Given the description of an element on the screen output the (x, y) to click on. 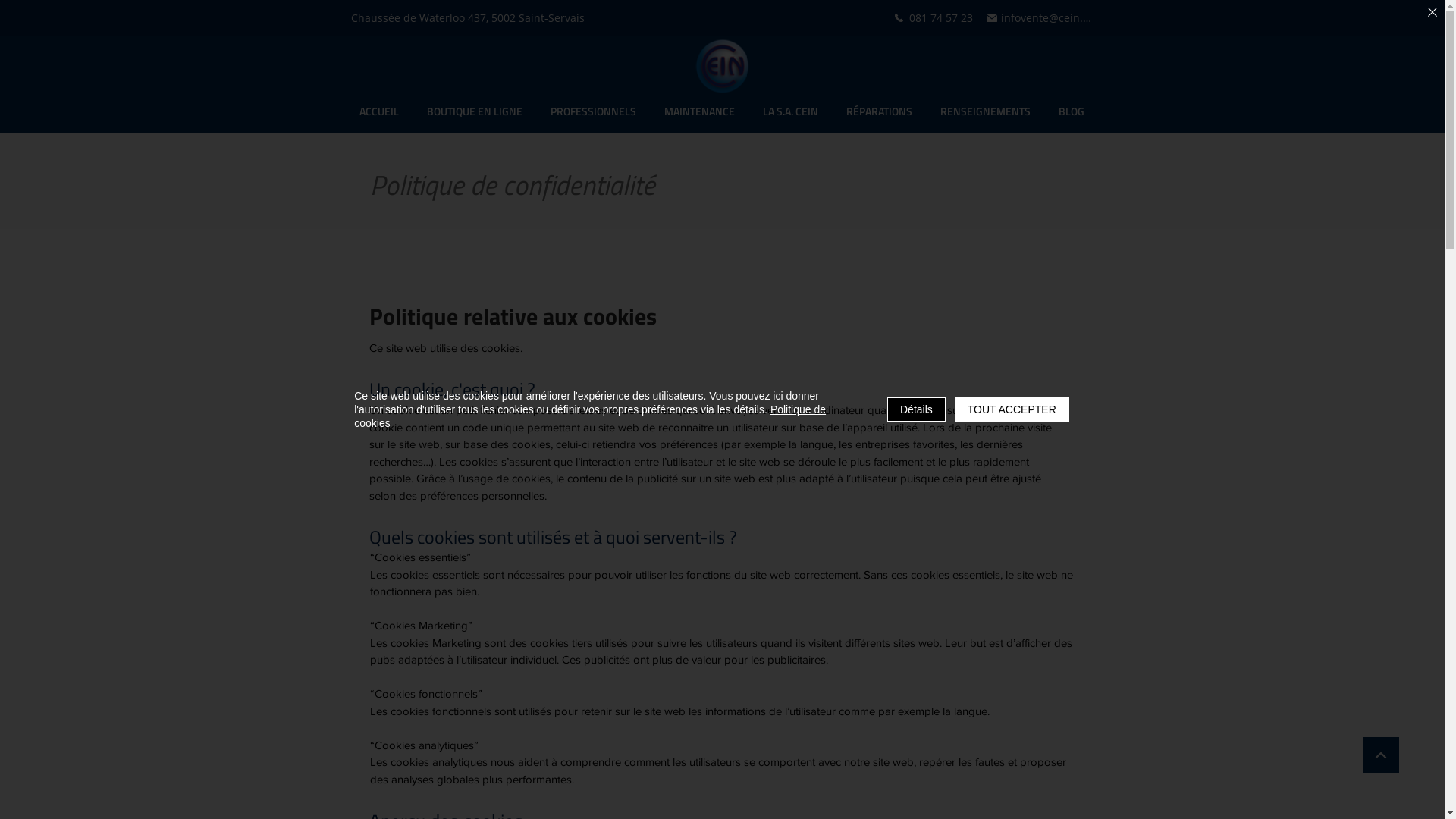
Politique de cookies Element type: text (589, 416)
BLOG Element type: text (1071, 111)
MAINTENANCE Element type: text (699, 111)
infovente@cein.be Element type: text (1039, 17)
081 74 57 23 Element type: text (933, 17)
BOUTIQUE EN LIGNE Element type: text (474, 111)
TOUT ACCEPTER Element type: text (1011, 409)
LA S.A. CEIN Element type: text (790, 111)
PROFESSIONNELS Element type: text (593, 111)
ACCUEIL Element type: text (379, 111)
